Given the description of an element on the screen output the (x, y) to click on. 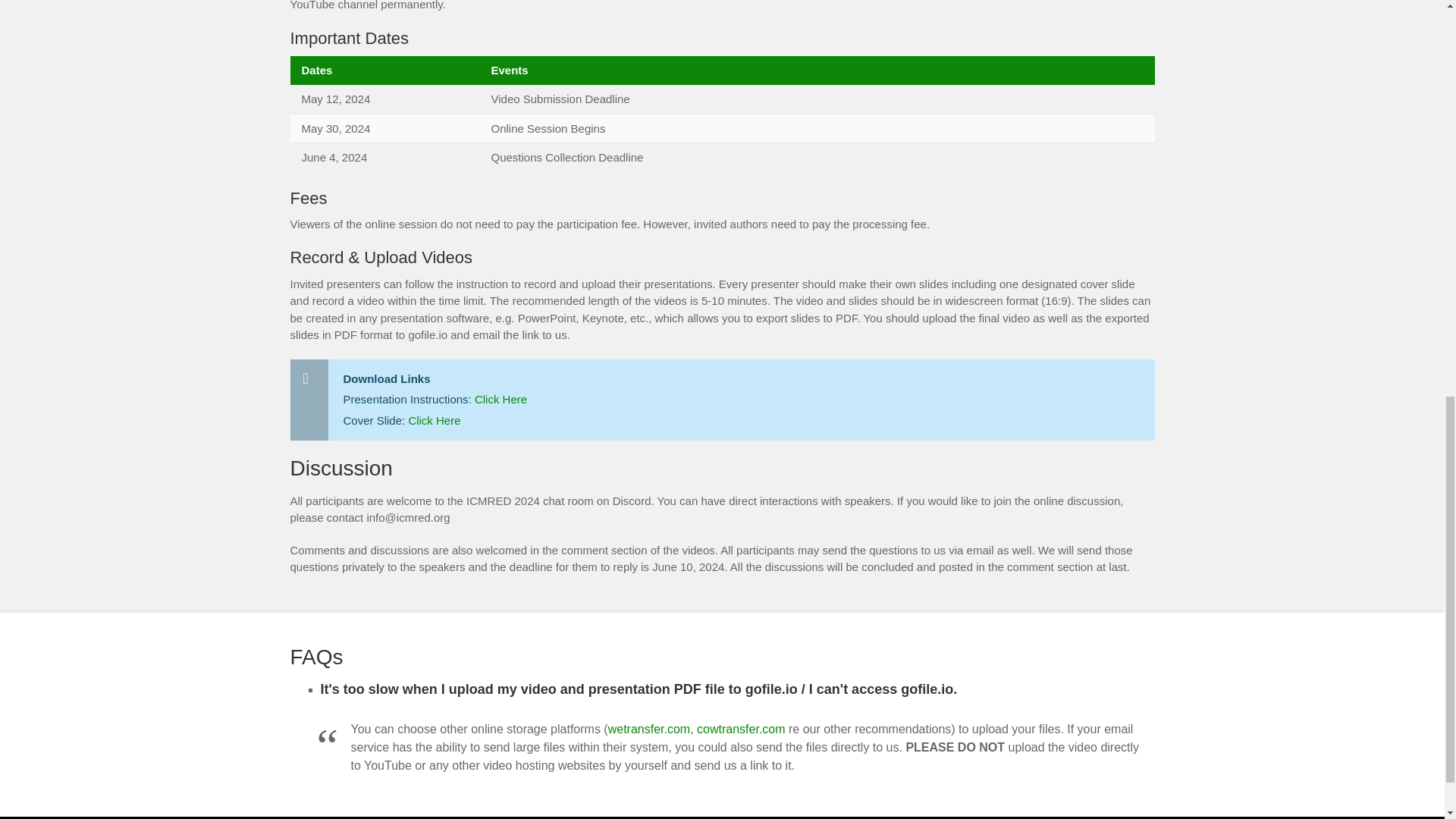
Click Here (433, 420)
wetransfer.com (649, 728)
cowtransfer.com (740, 728)
Click Here (500, 399)
